Given the description of an element on the screen output the (x, y) to click on. 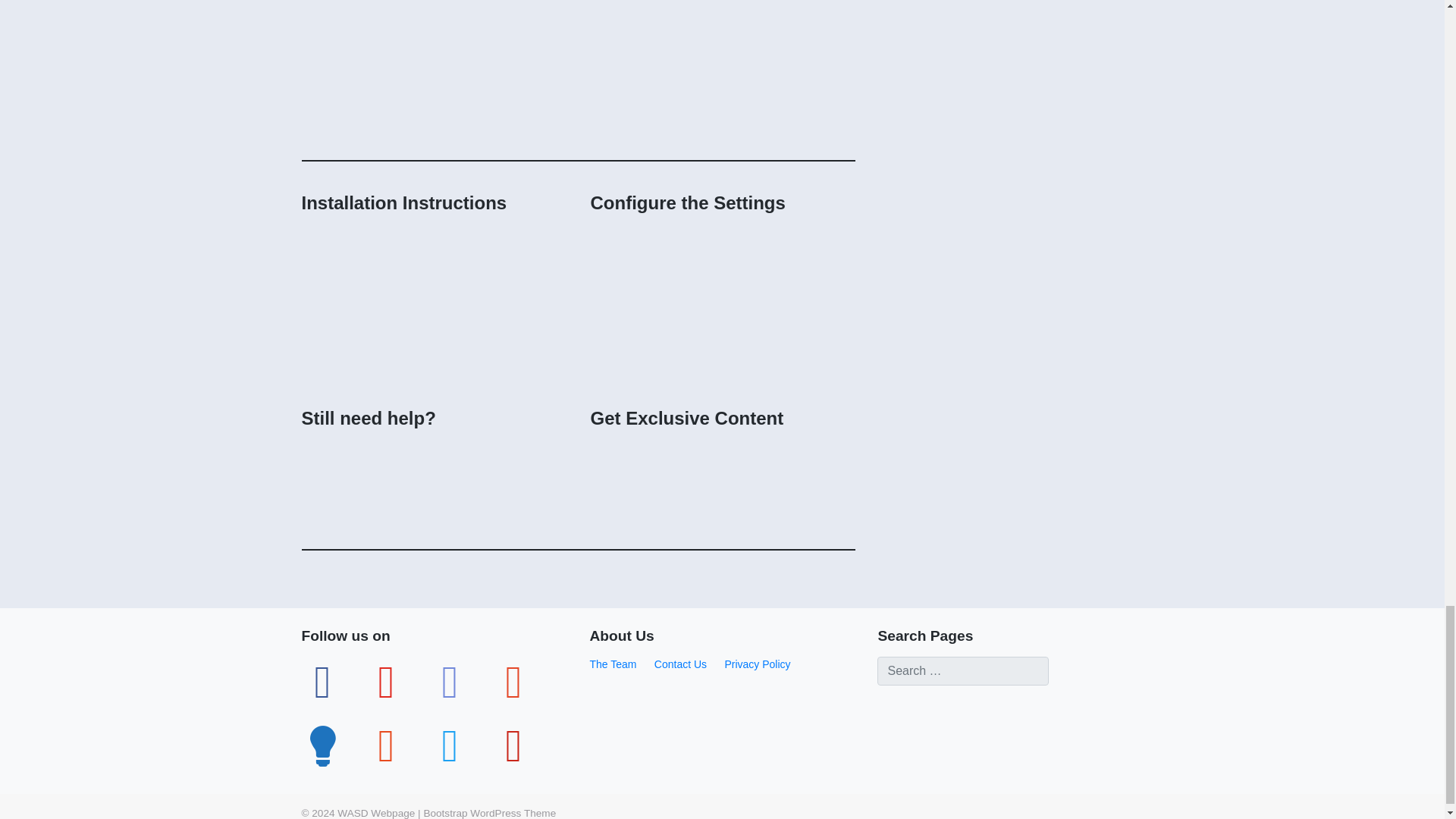
Bootstrap WordPress Theme (489, 813)
reddit (386, 745)
pinterest (513, 745)
discord (450, 681)
Contact Us (679, 664)
lightbulb (323, 745)
Privacy Policy (756, 664)
patreon (513, 681)
The Team (612, 664)
WASD Webpage (375, 813)
twitter (450, 745)
facebook (323, 681)
youtube (386, 681)
